Given the description of an element on the screen output the (x, y) to click on. 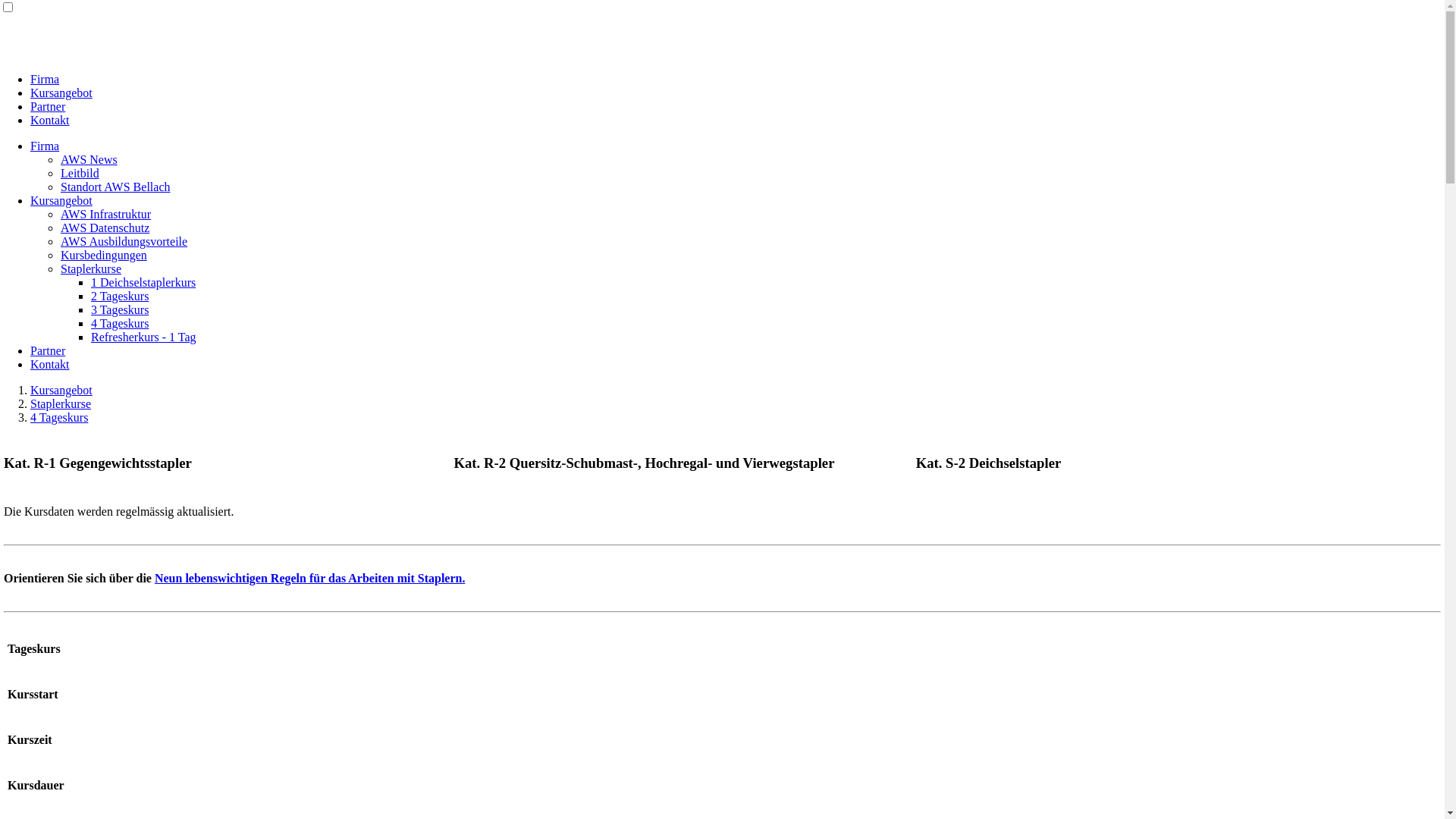
Partner Element type: text (47, 350)
Kursangebot Element type: text (61, 389)
Standort AWS Bellach Element type: text (114, 186)
AWS Infrastruktur Element type: text (105, 213)
Partner Element type: text (47, 106)
Kontakt Element type: text (49, 363)
4 Tageskurs Element type: text (119, 322)
Firma Element type: text (44, 145)
Kursangebot Element type: text (61, 92)
AWS News Element type: text (88, 159)
Refresherkurs - 1 Tag Element type: text (143, 336)
4 Tageskurs Element type: text (58, 417)
AWS Datenschutz Element type: text (104, 227)
AWS Ausbildungsvorteile Element type: text (123, 241)
Staplerkurse Element type: text (60, 403)
Staplerkurse Element type: text (90, 268)
Leitbild Element type: text (79, 172)
1 Deichselstaplerkurs Element type: text (143, 282)
Kursbedingungen Element type: text (103, 254)
Kursangebot Element type: text (61, 200)
Kontakt Element type: text (49, 119)
Firma Element type: text (44, 78)
3 Tageskurs Element type: text (119, 309)
2 Tageskurs Element type: text (119, 295)
